Given the description of an element on the screen output the (x, y) to click on. 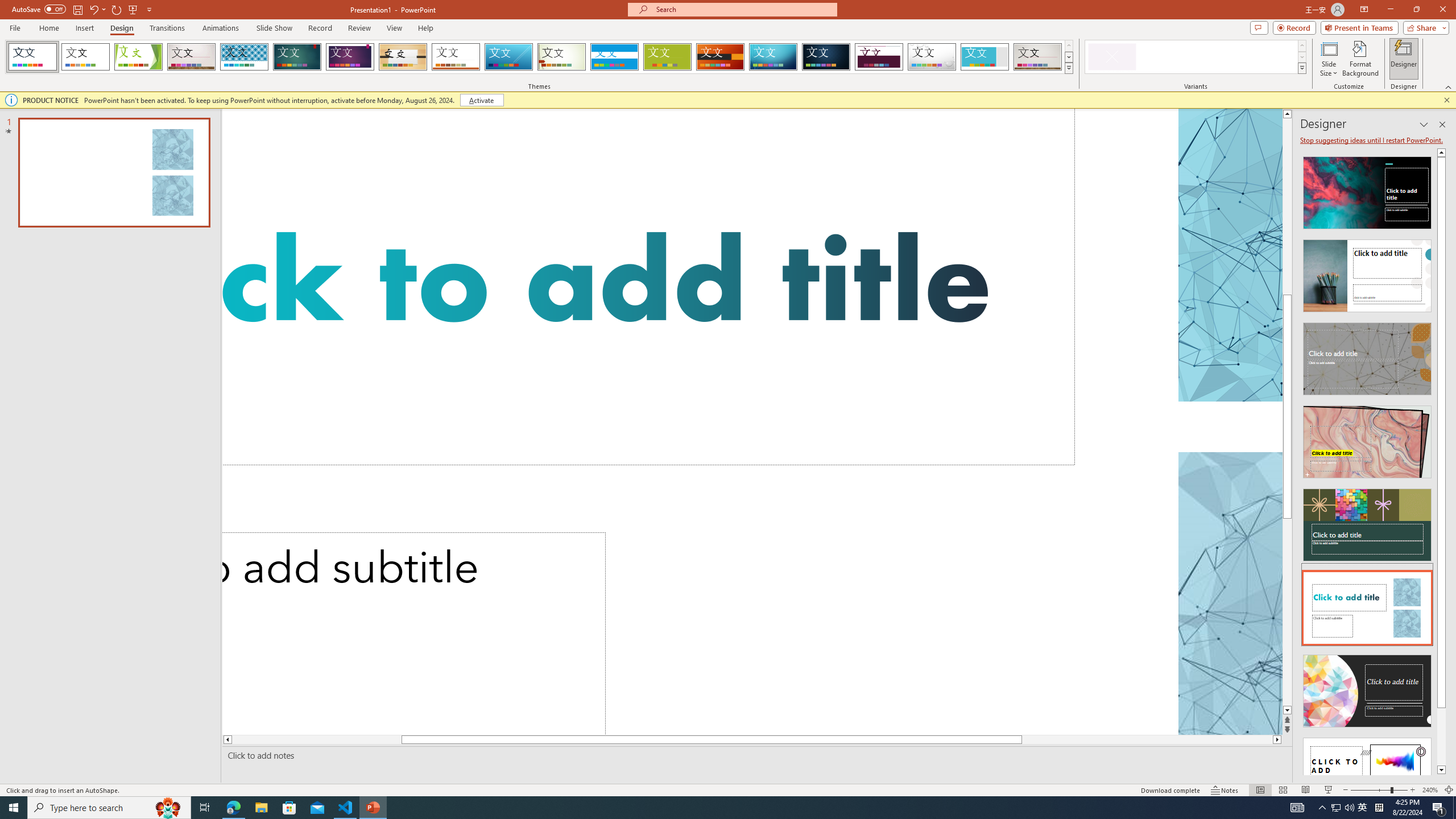
Basis (667, 56)
Slide Size (1328, 58)
Circuit (772, 56)
Integral (244, 56)
Facet (138, 56)
Class: NetUIScrollBar (1441, 461)
Activate (481, 100)
